Given the description of an element on the screen output the (x, y) to click on. 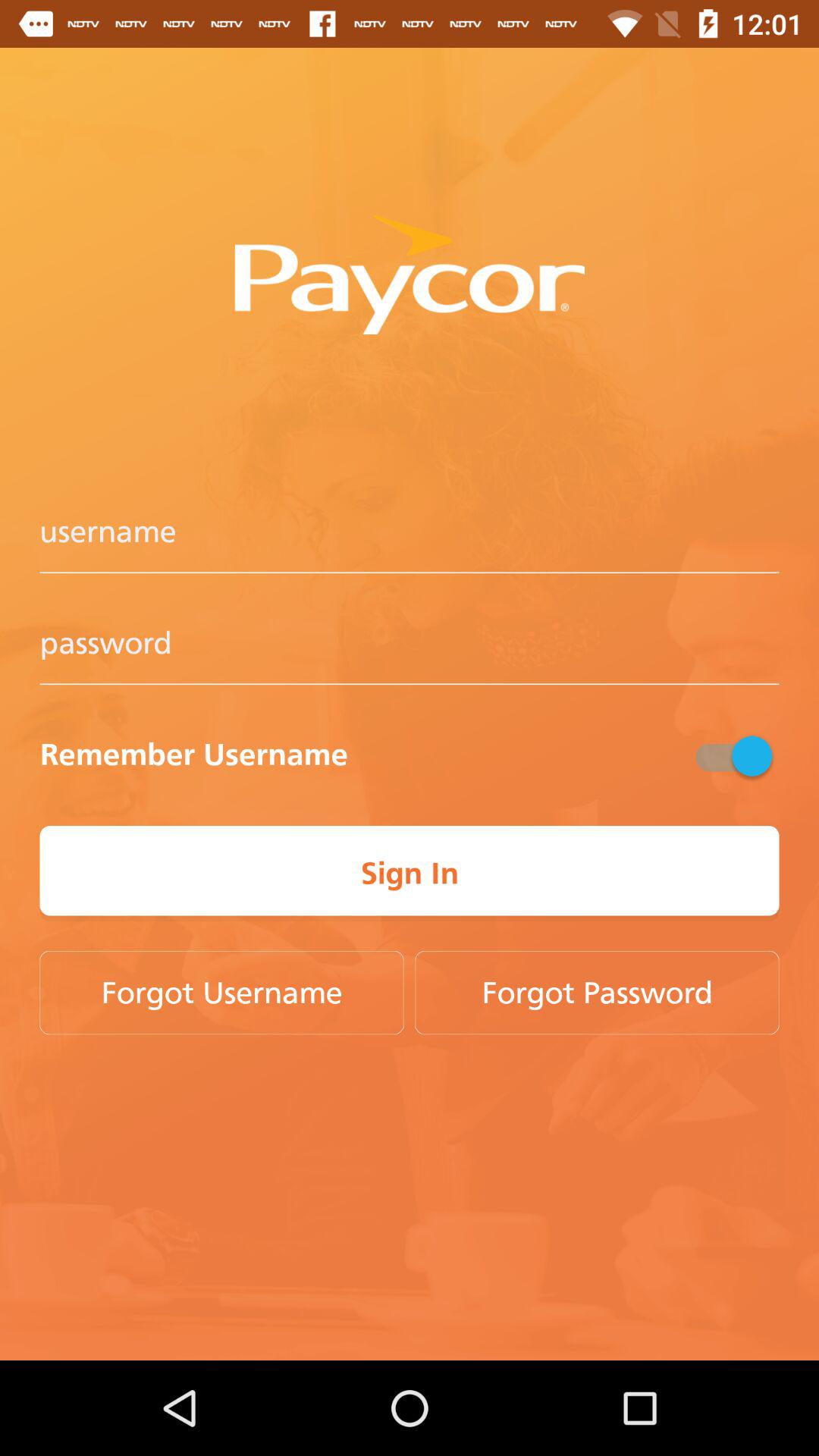
select icon on the right (731, 755)
